Given the description of an element on the screen output the (x, y) to click on. 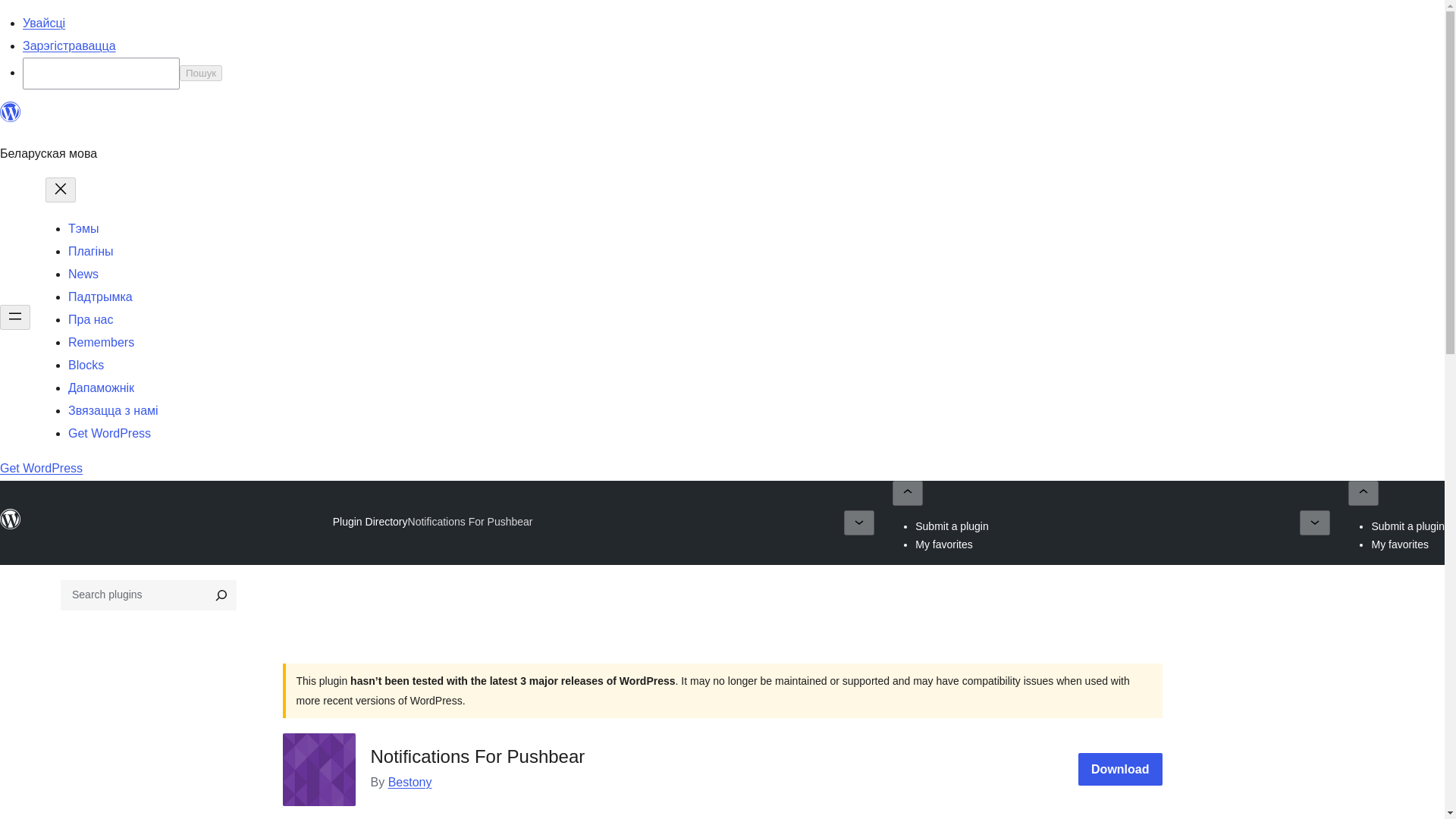
Remembers (100, 341)
WordPress.org (10, 518)
Plugin Directory (370, 521)
Bestony (410, 781)
My favorites (943, 544)
Get WordPress (41, 468)
WordPress.org (10, 118)
My favorites (1399, 544)
News (83, 273)
Notifications For Pushbear (469, 522)
Download (1119, 768)
Submit a plugin (951, 526)
Blocks (85, 364)
WordPress.org (10, 111)
WordPress.org (10, 526)
